Given the description of an element on the screen output the (x, y) to click on. 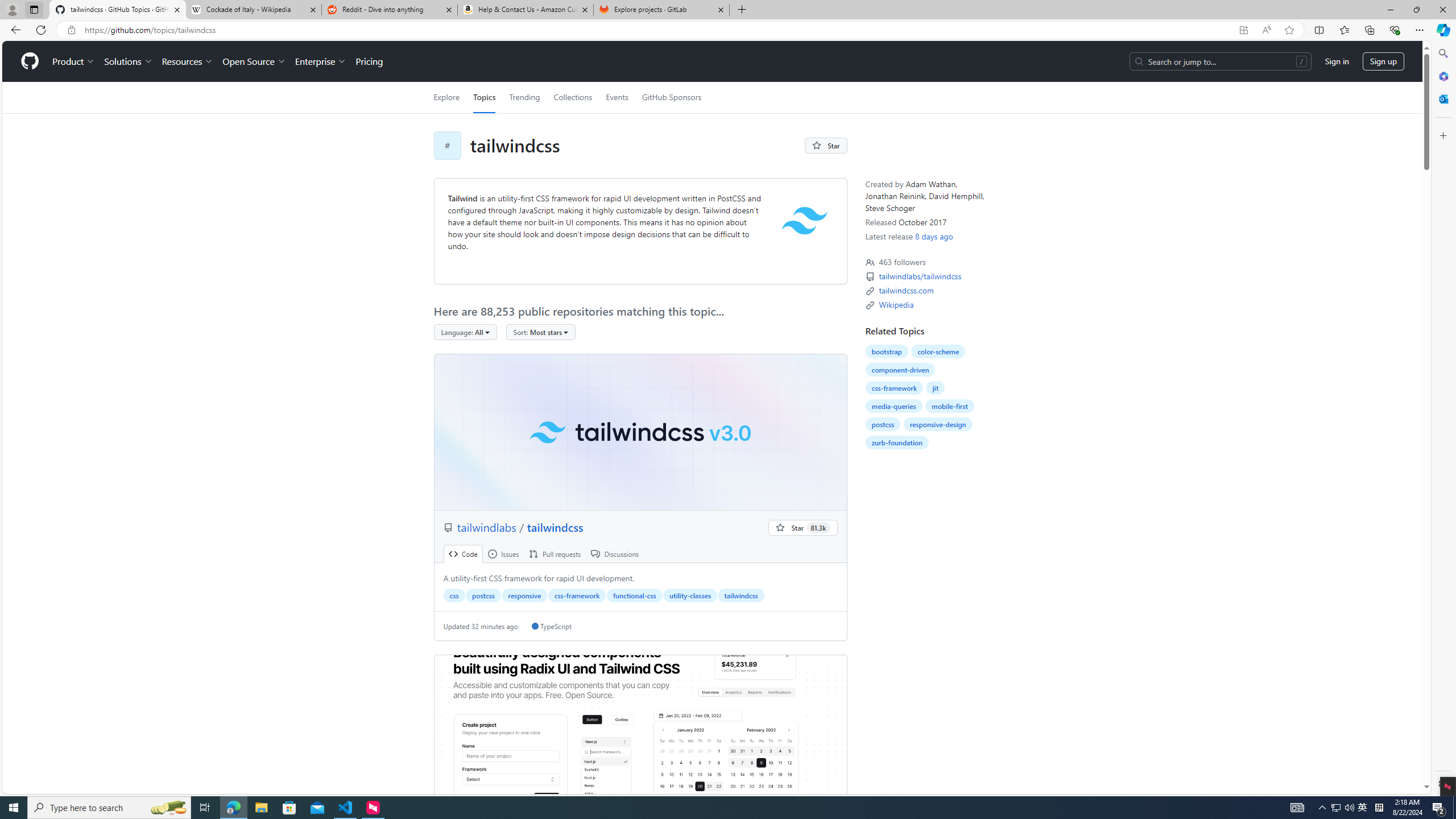
TypeScript (551, 625)
You must be signed in to star a repository (802, 527)
 Code (462, 553)
Updated 32 minutes ago (480, 625)
Open Source (254, 60)
ui (640, 733)
tailwindcss (640, 431)
